Given the description of an element on the screen output the (x, y) to click on. 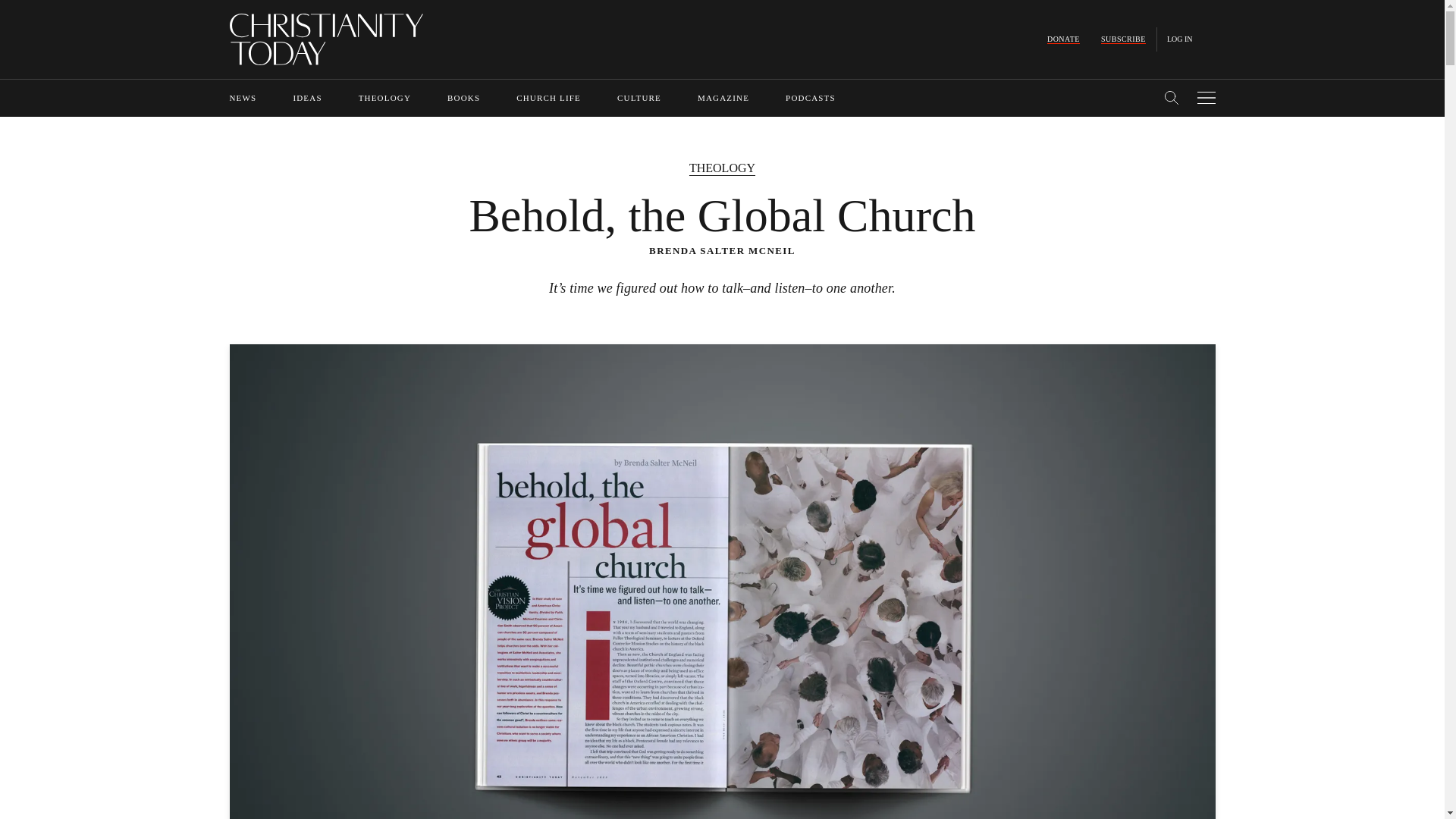
THEOLOGY (384, 97)
MAGAZINE (723, 97)
BOOKS (463, 97)
CULTURE (639, 97)
IDEAS (306, 97)
DONATE (1063, 39)
PODCASTS (810, 97)
LOG IN (1179, 39)
NEWS (242, 97)
CHURCH LIFE (548, 97)
